Given the description of an element on the screen output the (x, y) to click on. 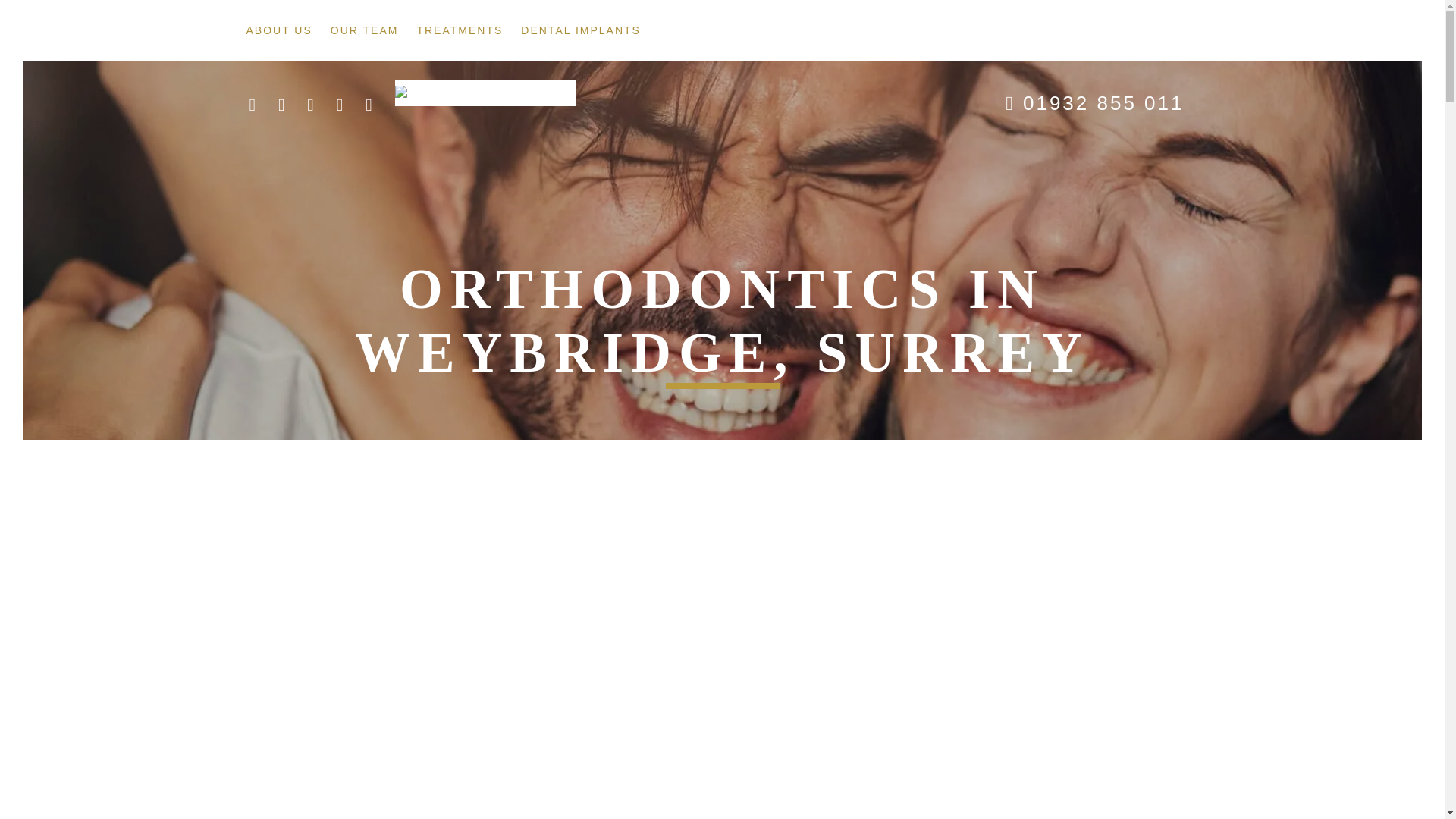
ABOUT US (278, 31)
01932 855 011 (1104, 102)
OUR TEAM (364, 31)
